Given the description of an element on the screen output the (x, y) to click on. 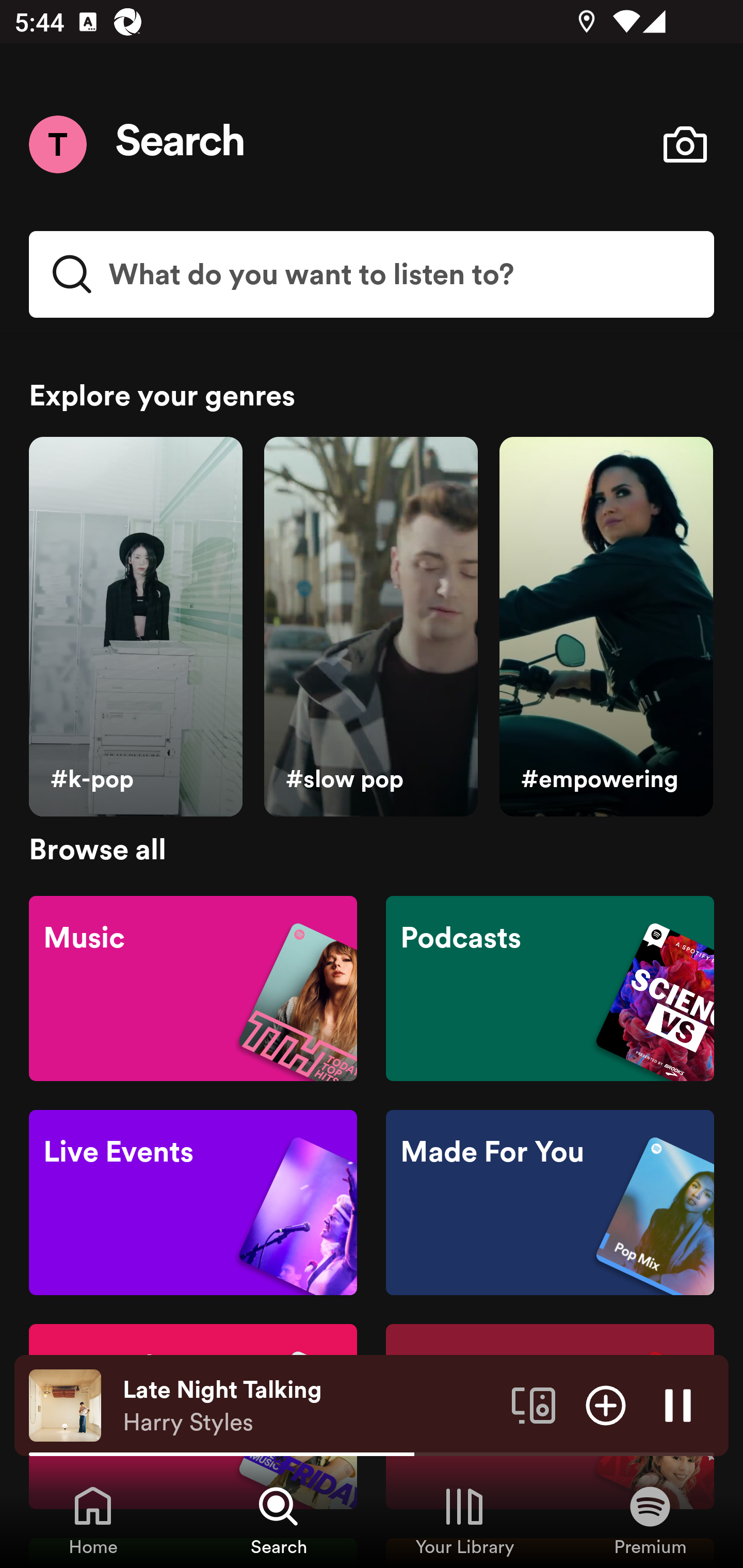
Menu (57, 144)
Open camera (685, 145)
Search (180, 144)
#k-pop (135, 626)
#slow pop (370, 626)
#empowering (606, 626)
Music (192, 987)
Podcasts (549, 987)
Live Events (192, 1202)
Made For You (549, 1202)
Late Night Talking Harry Styles (309, 1405)
The cover art of the currently playing track (64, 1404)
Connect to a device. Opens the devices menu (533, 1404)
Add item (605, 1404)
Pause (677, 1404)
Home, Tab 1 of 4 Home Home (92, 1519)
Search, Tab 2 of 4 Search Search (278, 1519)
Your Library, Tab 3 of 4 Your Library Your Library (464, 1519)
Premium, Tab 4 of 4 Premium Premium (650, 1519)
